Given the description of an element on the screen output the (x, y) to click on. 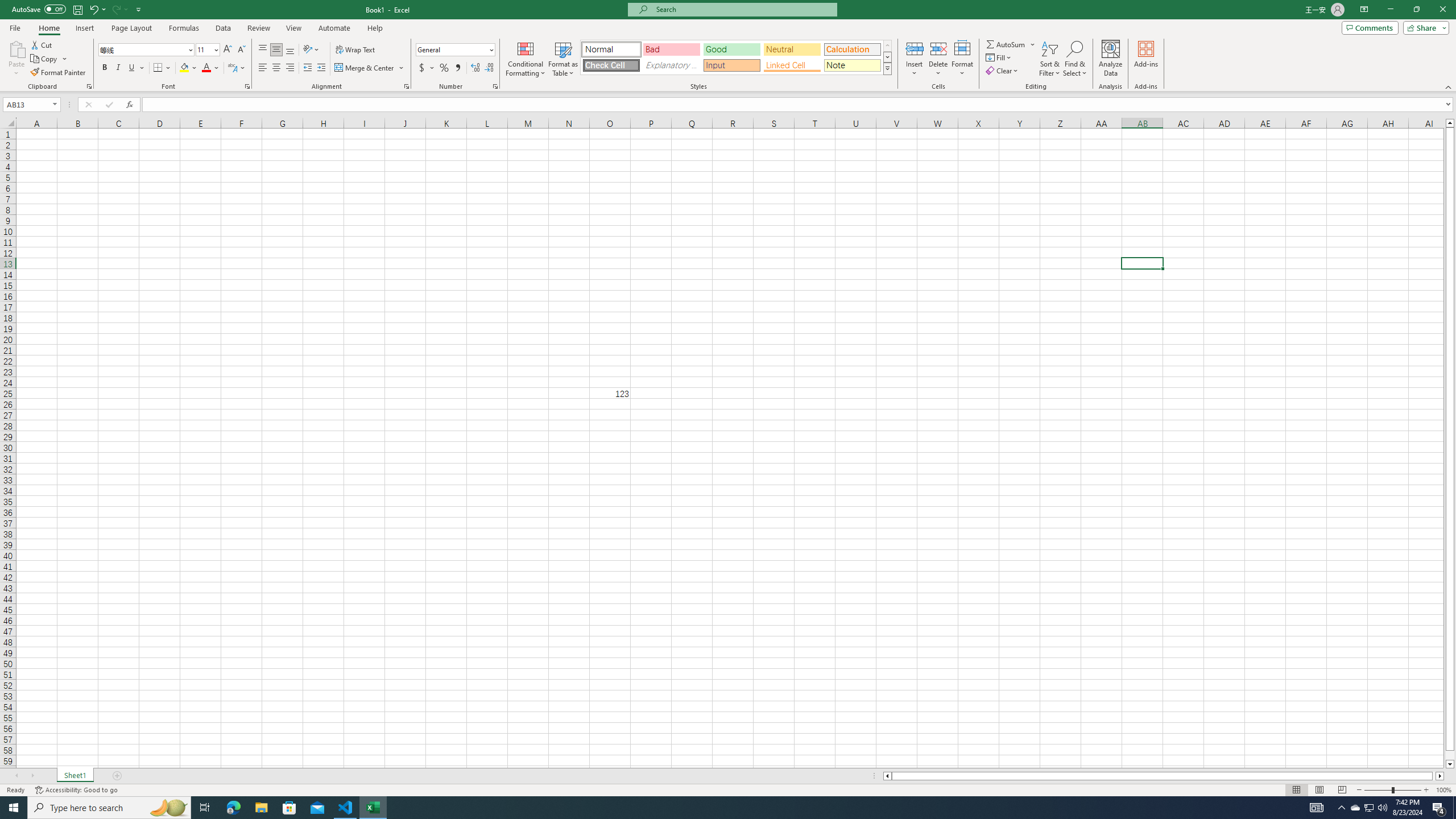
Format as Table (563, 58)
Delete Cells... (938, 48)
Save (77, 9)
View (293, 28)
Quick Access Toolbar (77, 9)
Clear (1003, 69)
Sum (1006, 44)
Linked Cell (791, 65)
Page down (1449, 755)
Input (731, 65)
Increase Decimal (474, 67)
Align Left (262, 67)
Home (48, 28)
